Given the description of an element on the screen output the (x, y) to click on. 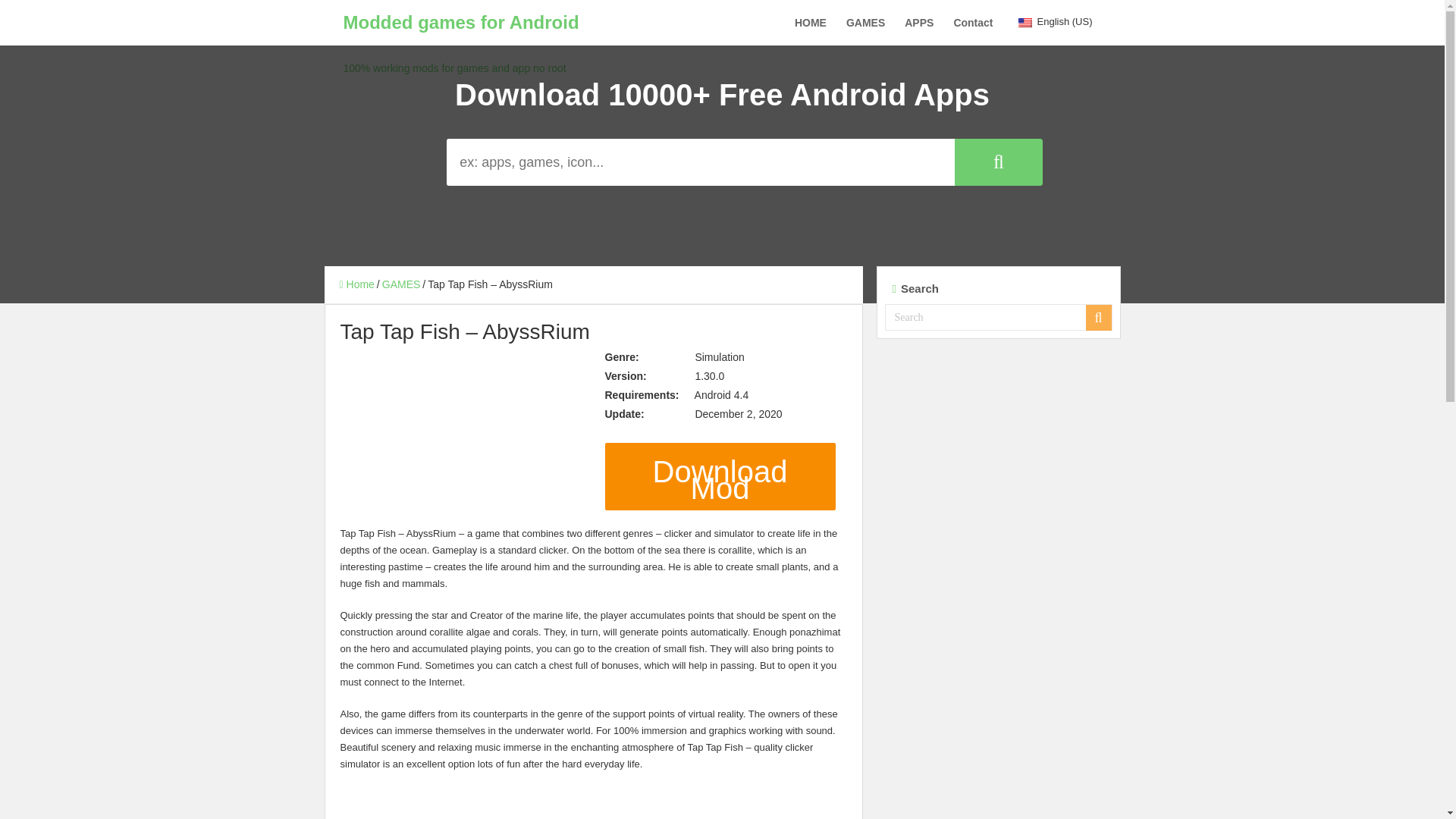
GAMES (400, 284)
Search (721, 161)
GAMES (865, 22)
Search (997, 316)
Search (1099, 317)
Contact (973, 22)
Download Mod (720, 476)
Home (356, 284)
Search (998, 161)
APPS (919, 22)
